Given the description of an element on the screen output the (x, y) to click on. 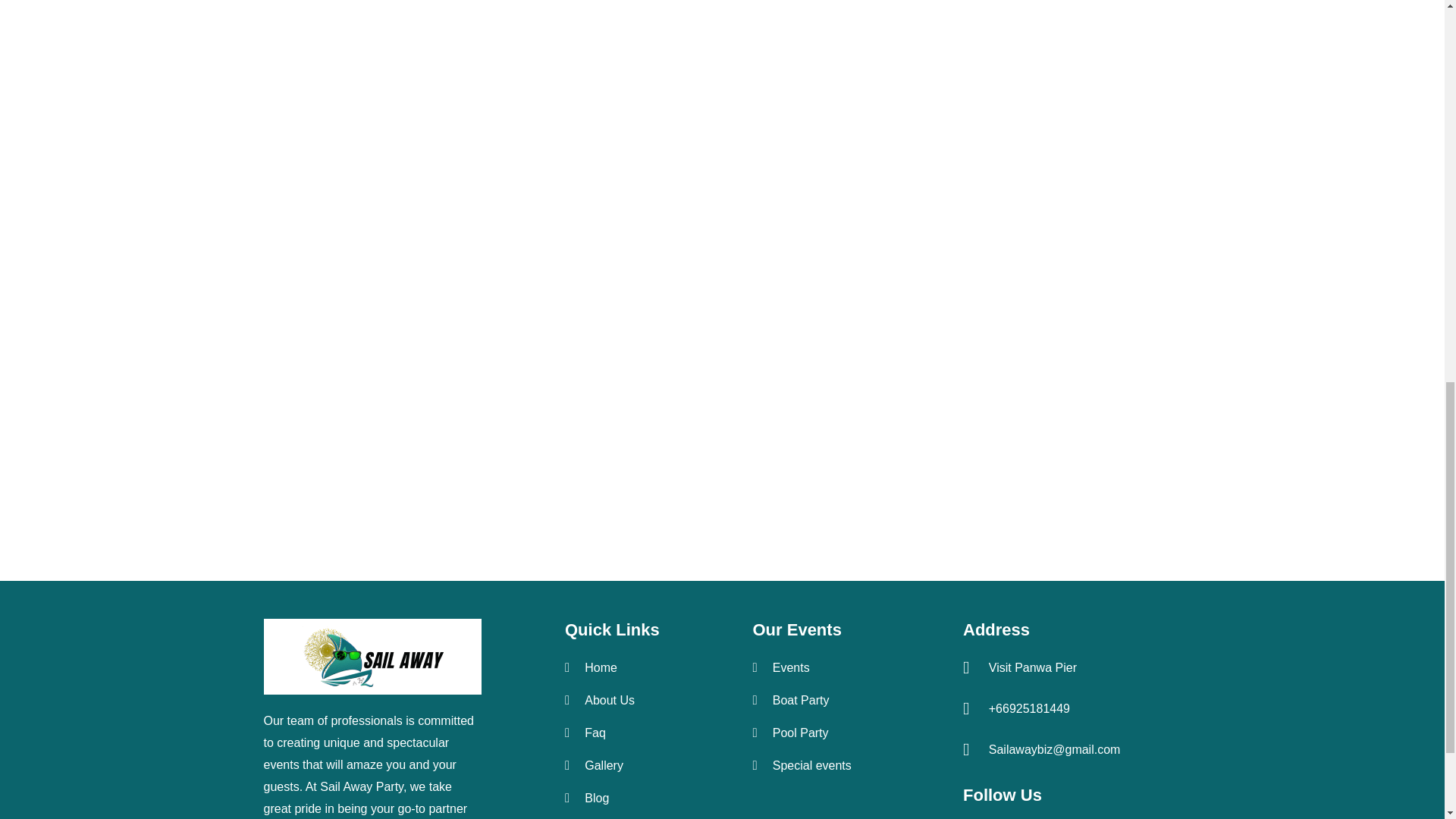
Events (849, 667)
Blog (639, 798)
Home (639, 667)
Pool Party (849, 732)
Gallery (639, 764)
Boat Party (849, 699)
About Us (639, 699)
Faq (639, 732)
